Given the description of an element on the screen output the (x, y) to click on. 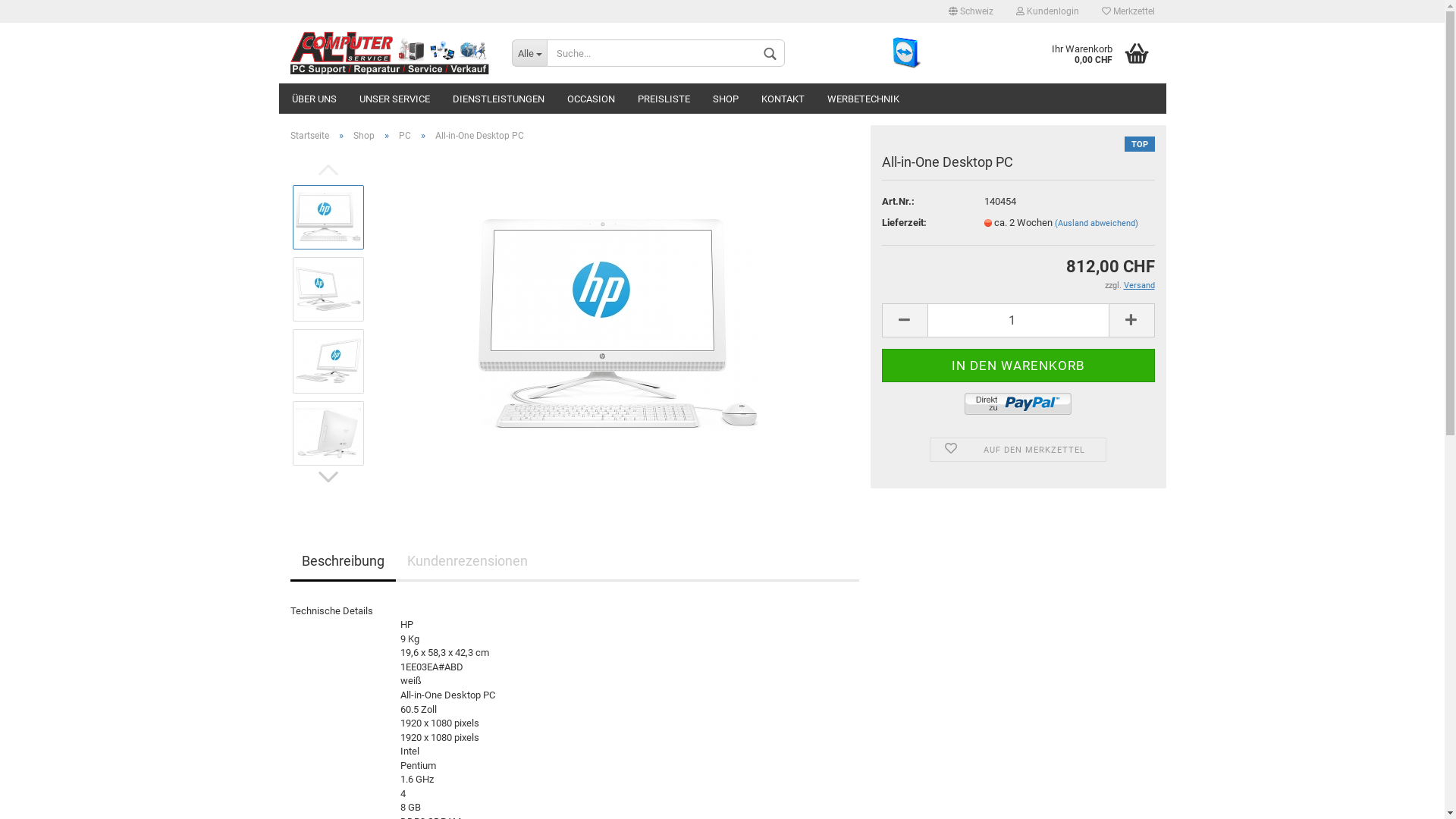
(Ausland abweichend) Element type: text (1095, 223)
Ihr Warenkorb
0,00 CHF Element type: text (1091, 52)
Versand Element type: text (1138, 285)
KONTAKT Element type: text (782, 98)
Beschreibung Element type: text (342, 562)
WERBETECHNIK Element type: text (862, 98)
Startseite Element type: text (308, 135)
PREISLISTE Element type: text (663, 98)
Anmelden Element type: text (964, 185)
OCCASION Element type: text (590, 98)
In den Warenkorb Element type: hover (1017, 365)
Alle Element type: text (528, 52)
Preview: All-in-One Desktop PC Element type: hover (327, 288)
Kundenrezensionen Element type: text (467, 562)
PC Element type: text (404, 135)
Speichern Element type: text (887, 123)
Preview: All-in-One Desktop PC Element type: hover (327, 360)
 Kundenlogin Element type: text (1046, 11)
AUF DEN MERKZETTEL Element type: text (1018, 449)
In den Warenkorb Element type: text (1017, 365)
Preview: All-in-One Desktop PC Element type: hover (327, 432)
All-in-One Desktop PC Element type: hover (617, 323)
DIENSTLEISTUNGEN Element type: text (498, 98)
All-in-One Desktop PC Element type: hover (617, 325)
Preview: All-in-One Desktop PC Element type: hover (327, 216)
Shop Element type: text (363, 135)
UNSER SERVICE Element type: text (393, 98)
 Merkzettel Element type: text (1128, 11)
SHOP Element type: text (724, 98)
all-comshop.ch Element type: hover (389, 52)
Schweiz Element type: text (970, 11)
